Given the description of an element on the screen output the (x, y) to click on. 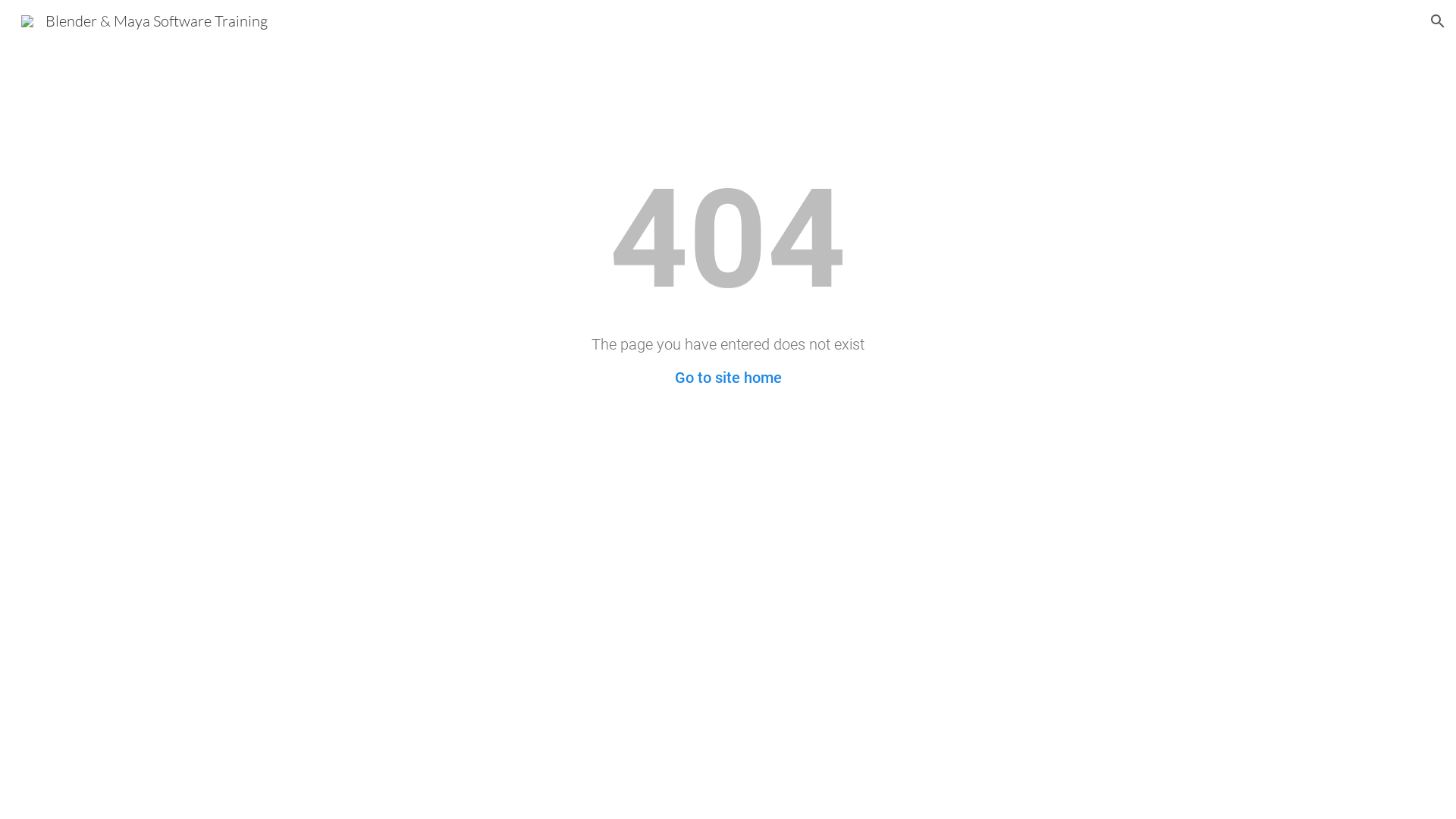
Go to site home Element type: text (727, 377)
Blender & Maya Software Training Element type: text (144, 18)
